Given the description of an element on the screen output the (x, y) to click on. 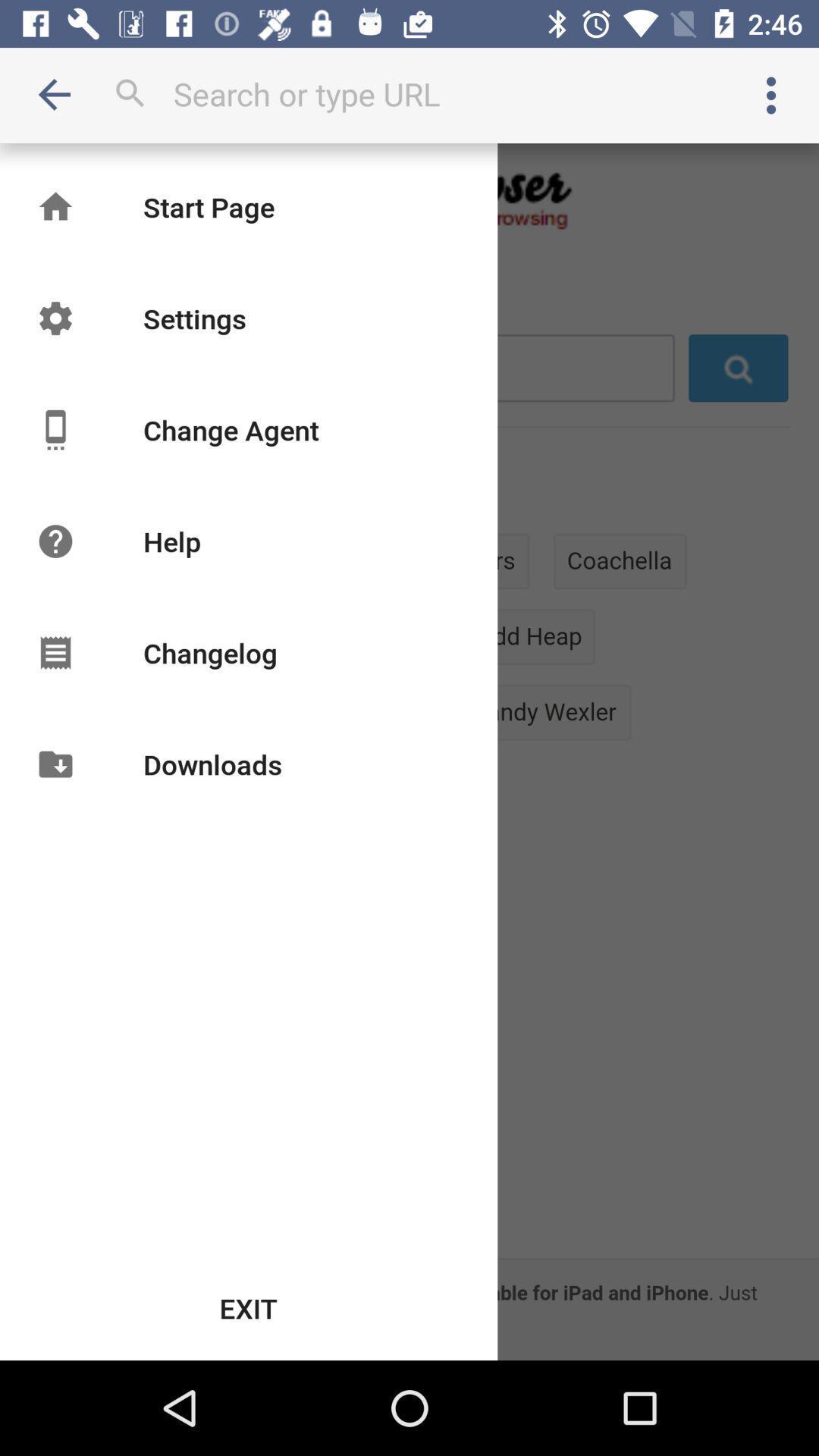
turn on icon at the center (409, 751)
